Given the description of an element on the screen output the (x, y) to click on. 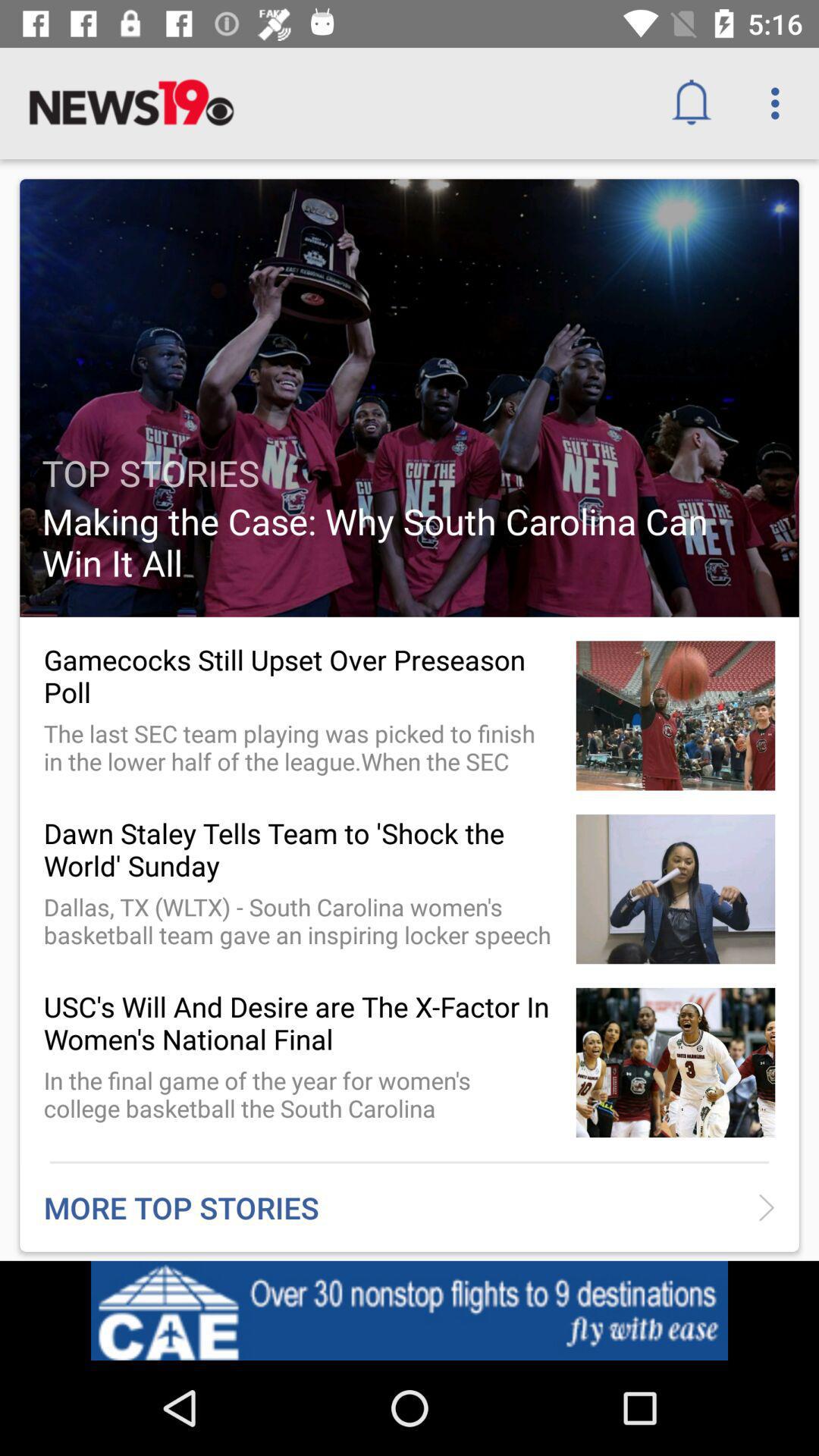
turn off the icon below more top stories item (409, 1310)
